Given the description of an element on the screen output the (x, y) to click on. 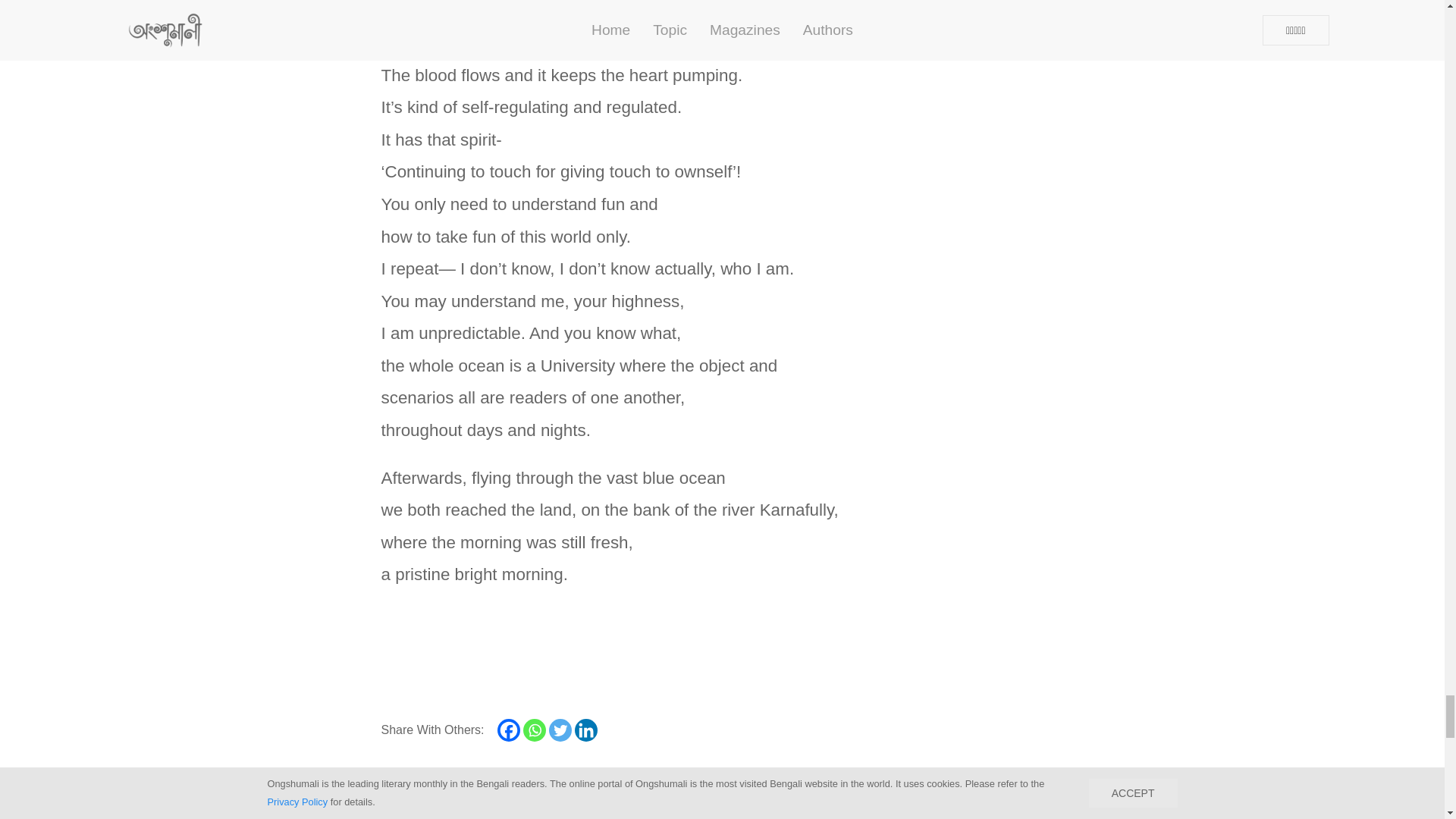
Linkedin (585, 730)
Whatsapp (534, 730)
Twitter (560, 730)
Facebook (508, 730)
Nayeem Firoz (561, 808)
